Given the description of an element on the screen output the (x, y) to click on. 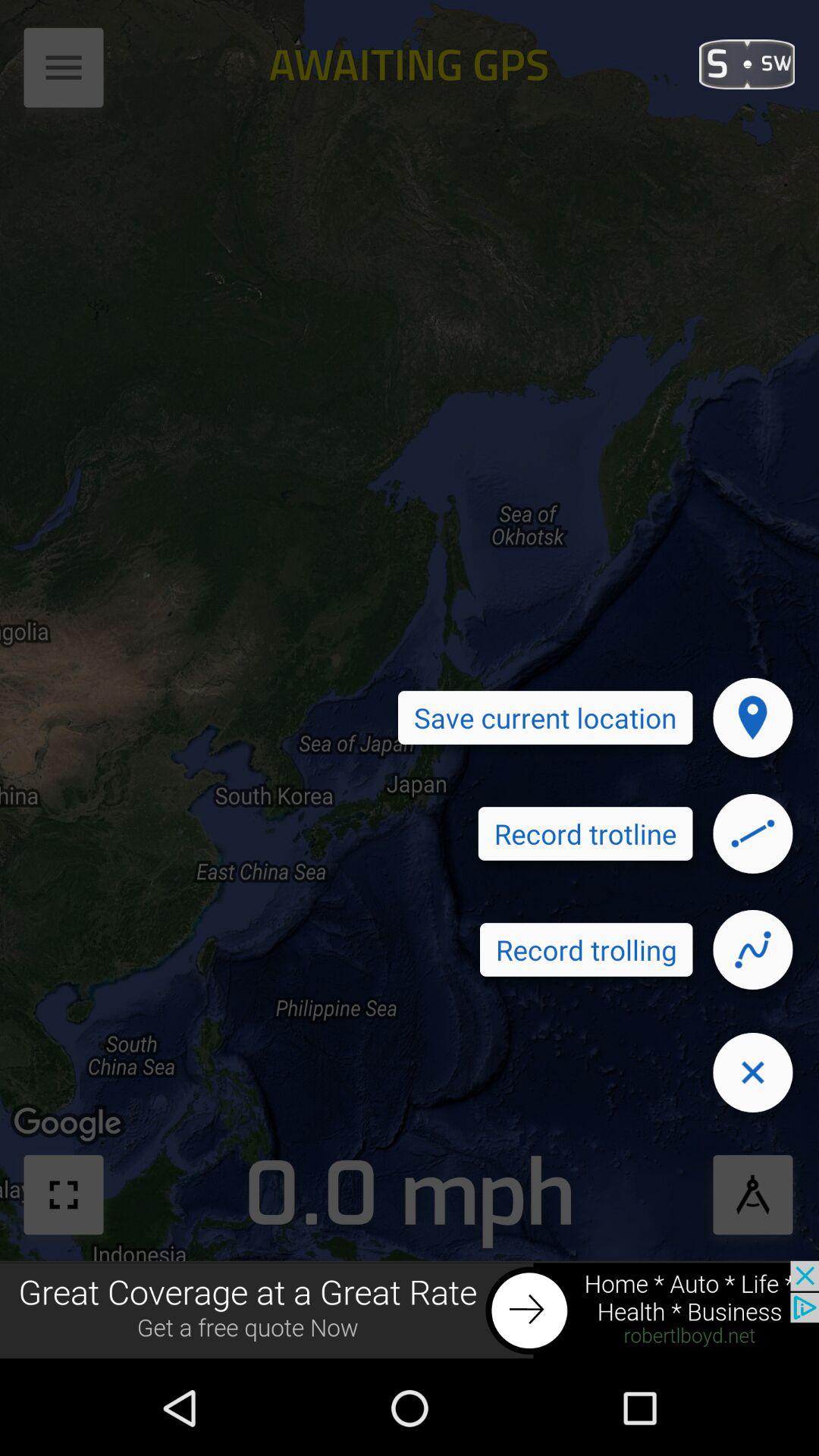
close (752, 1072)
